Given the description of an element on the screen output the (x, y) to click on. 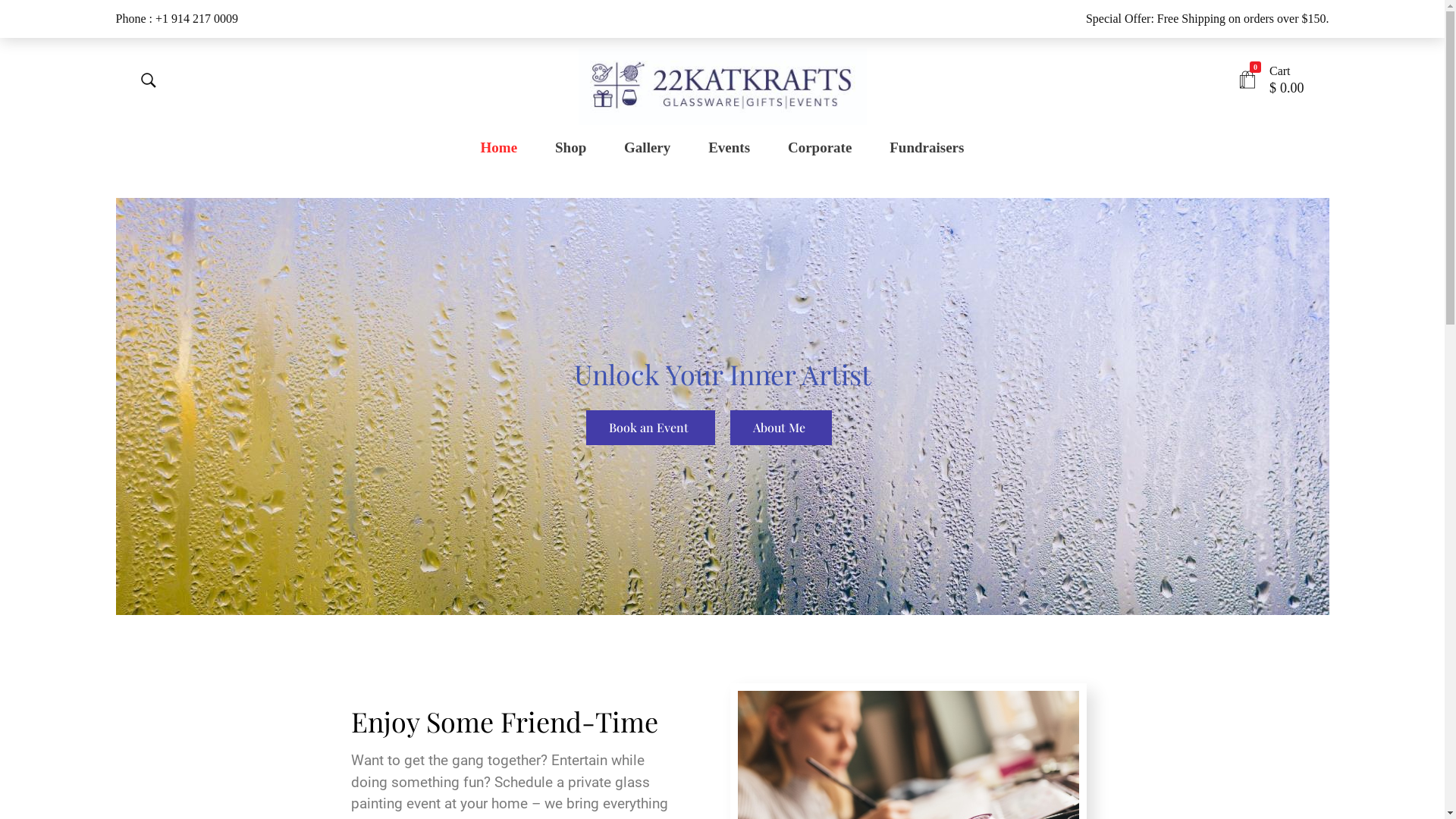
Fundraisers Element type: text (916, 147)
Book an Event Element type: text (649, 427)
Corporate Element type: text (819, 147)
0 Element type: text (1247, 80)
Events Element type: text (728, 147)
About Me Element type: text (780, 427)
Gallery Element type: text (647, 147)
Shop Element type: text (570, 147)
Home Element type: text (508, 147)
